Given the description of an element on the screen output the (x, y) to click on. 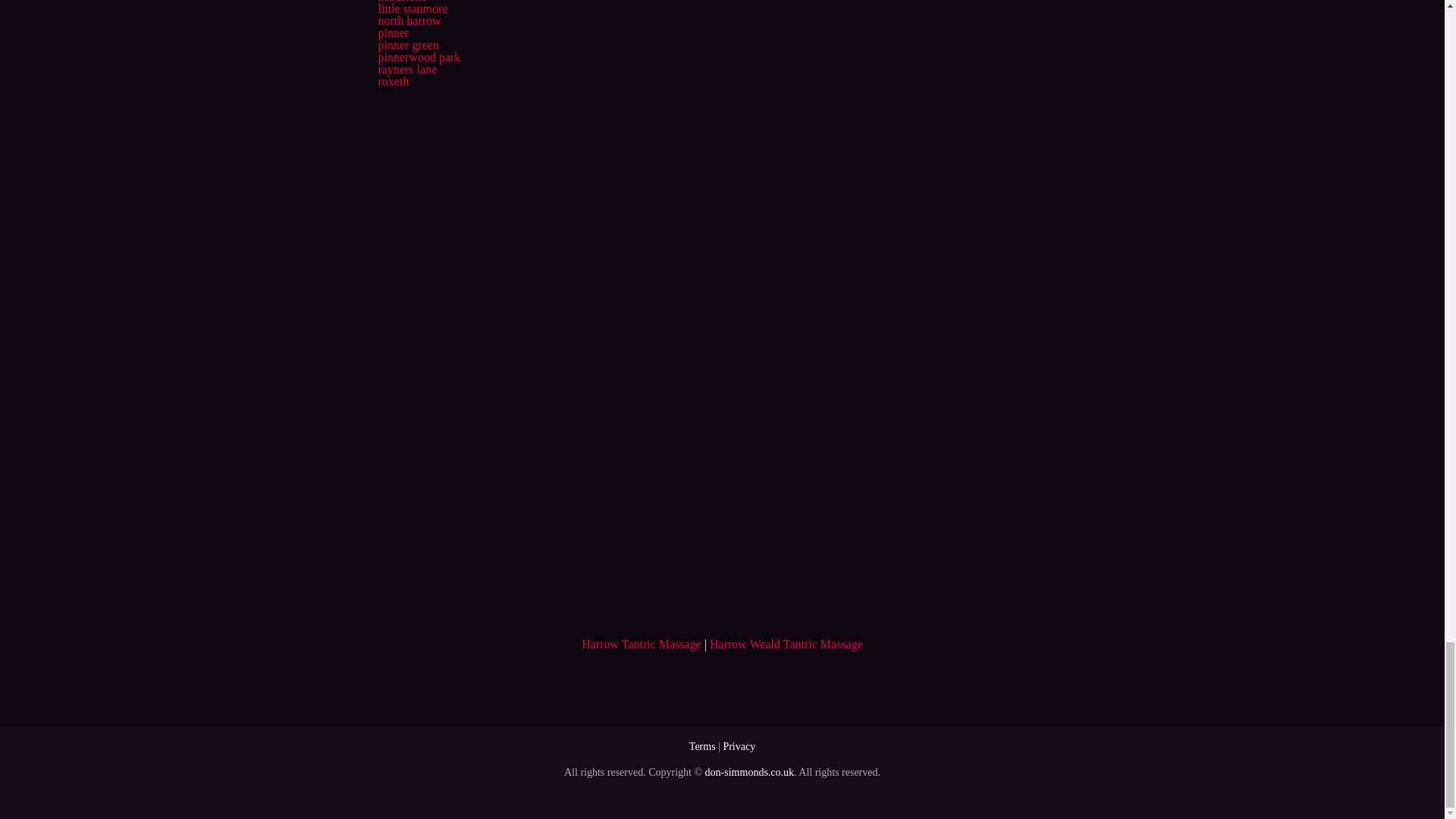
little stanmore (411, 8)
Harrow Tantric Massage (640, 644)
Privacy (738, 746)
pinner (393, 32)
north harrow (409, 20)
pinnerwood park (418, 56)
Harrow Weald Tantric Massage (786, 644)
roxeth (393, 81)
Terms (702, 746)
Privacy (738, 746)
